Given the description of an element on the screen output the (x, y) to click on. 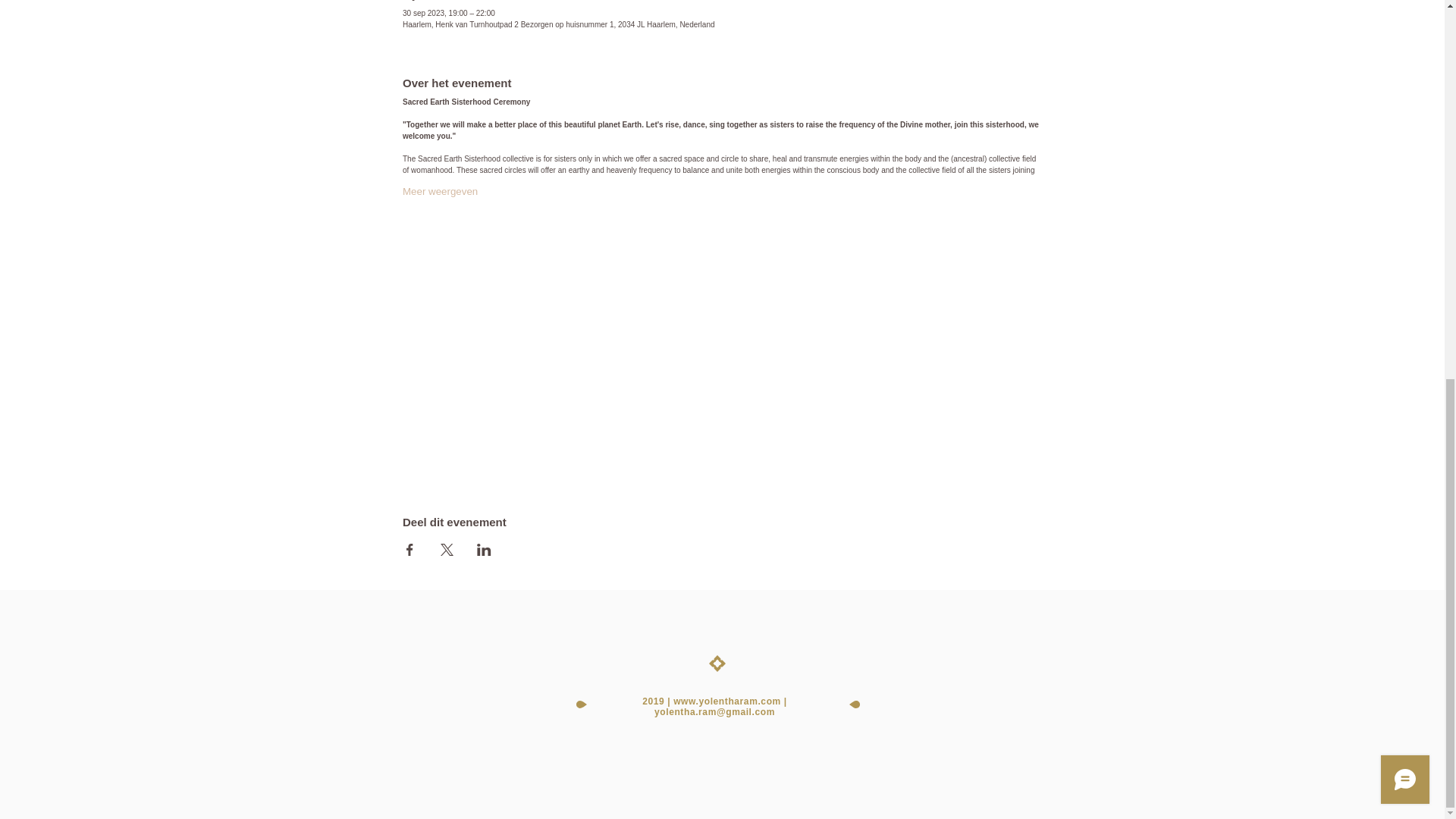
www.yolentharam.com (726, 701)
Meer weergeven (440, 191)
